Given the description of an element on the screen output the (x, y) to click on. 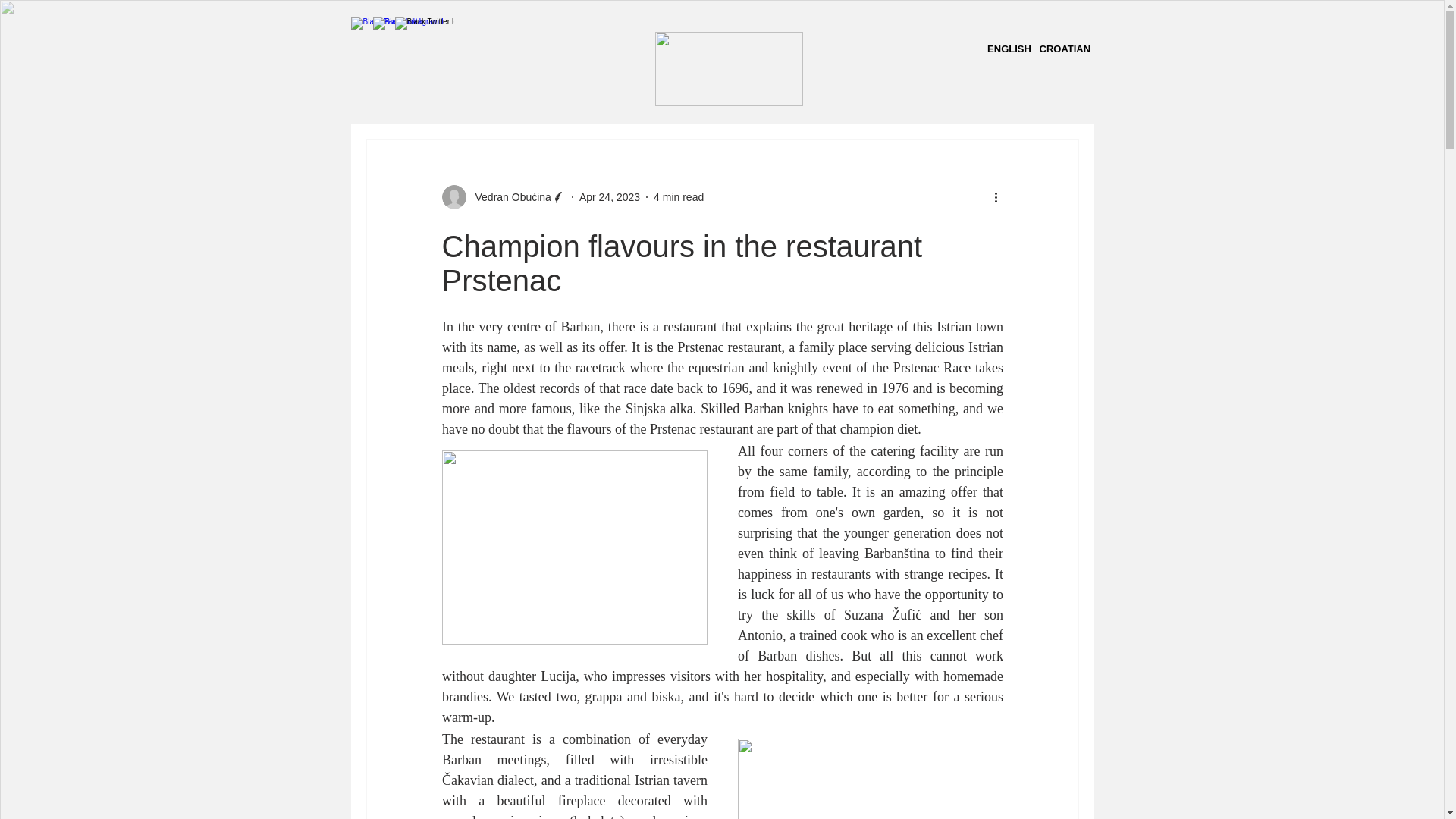
ENGLISH (1008, 49)
CROATIAN (1064, 49)
4 min read (678, 196)
Apr 24, 2023 (609, 196)
